Given the description of an element on the screen output the (x, y) to click on. 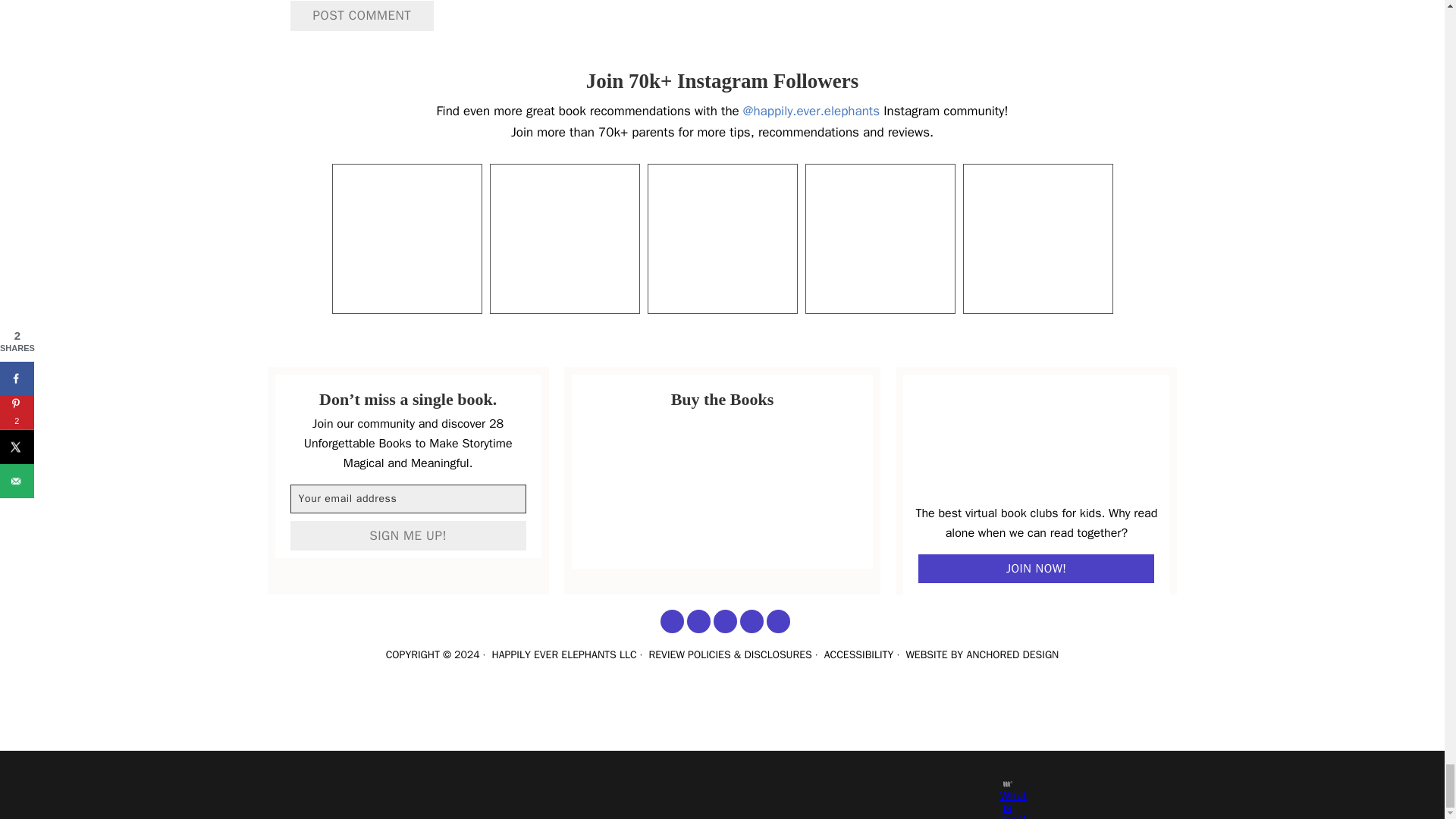
Post Comment (361, 15)
